Given the description of an element on the screen output the (x, y) to click on. 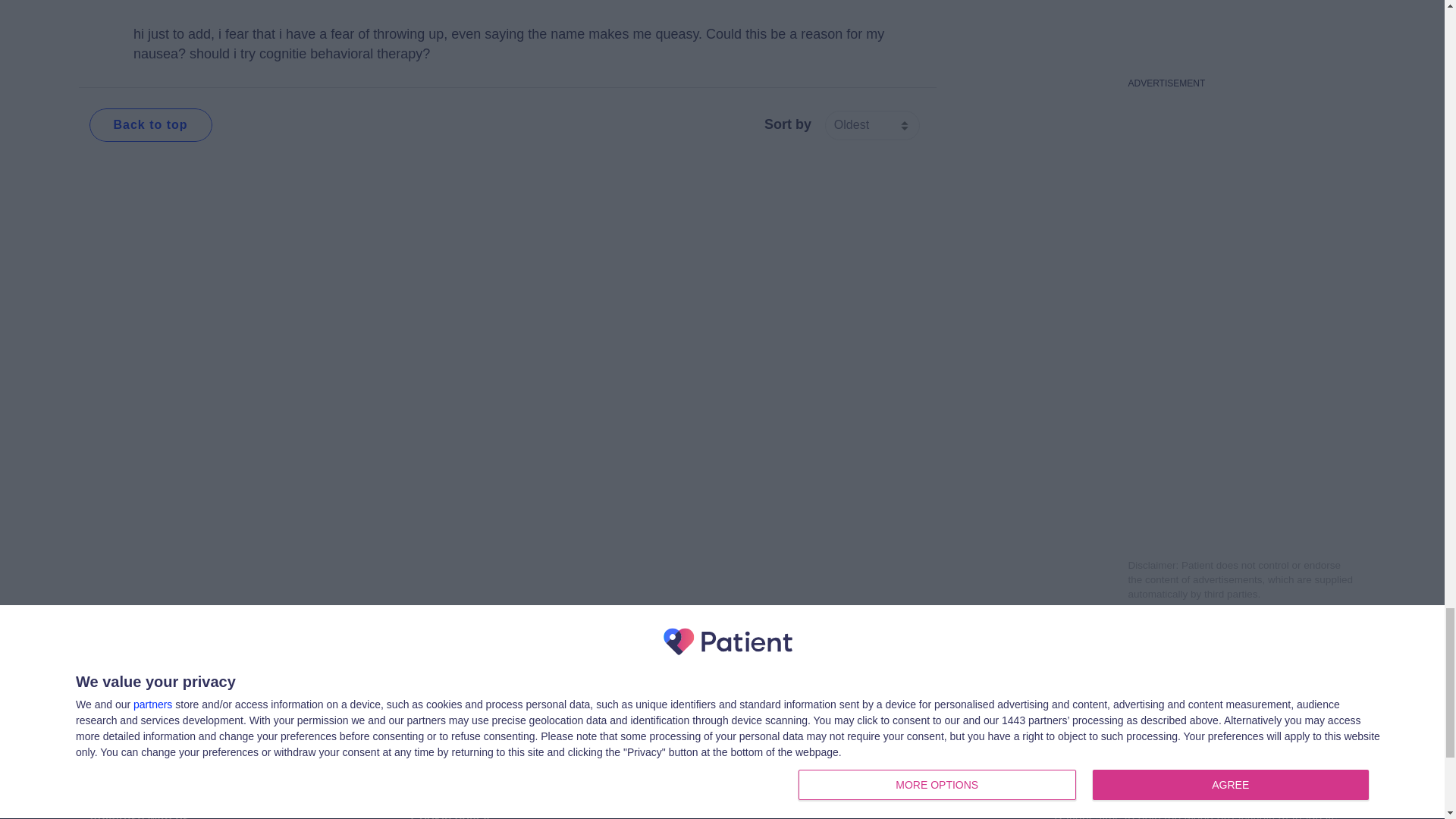
Back to top (150, 124)
